Given the description of an element on the screen output the (x, y) to click on. 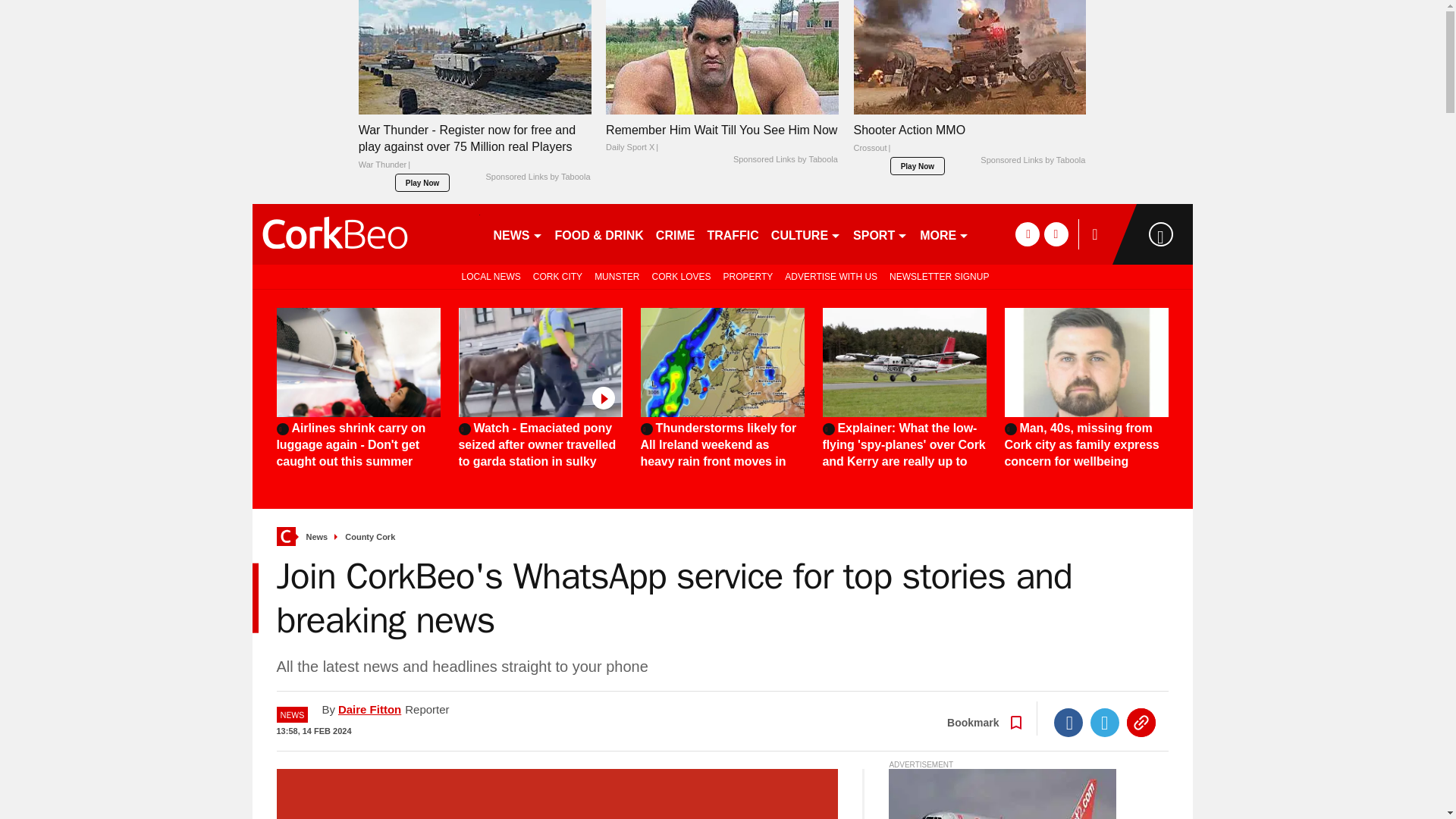
Remember Him Wait Till You See Him Now (721, 138)
TRAFFIC (732, 233)
NEWS (517, 233)
Shooter Action MMO (969, 57)
Sponsored Links by Taboola (1031, 160)
Shooter Action MMO (969, 143)
CULTURE (806, 233)
Facebook (1068, 722)
Play Now (916, 166)
Sponsored Links by Taboola (785, 159)
Play Now (421, 182)
Remember Him Wait Till You See Him Now (721, 57)
Sponsored Links by Taboola (536, 176)
SPORT (880, 233)
